Given the description of an element on the screen output the (x, y) to click on. 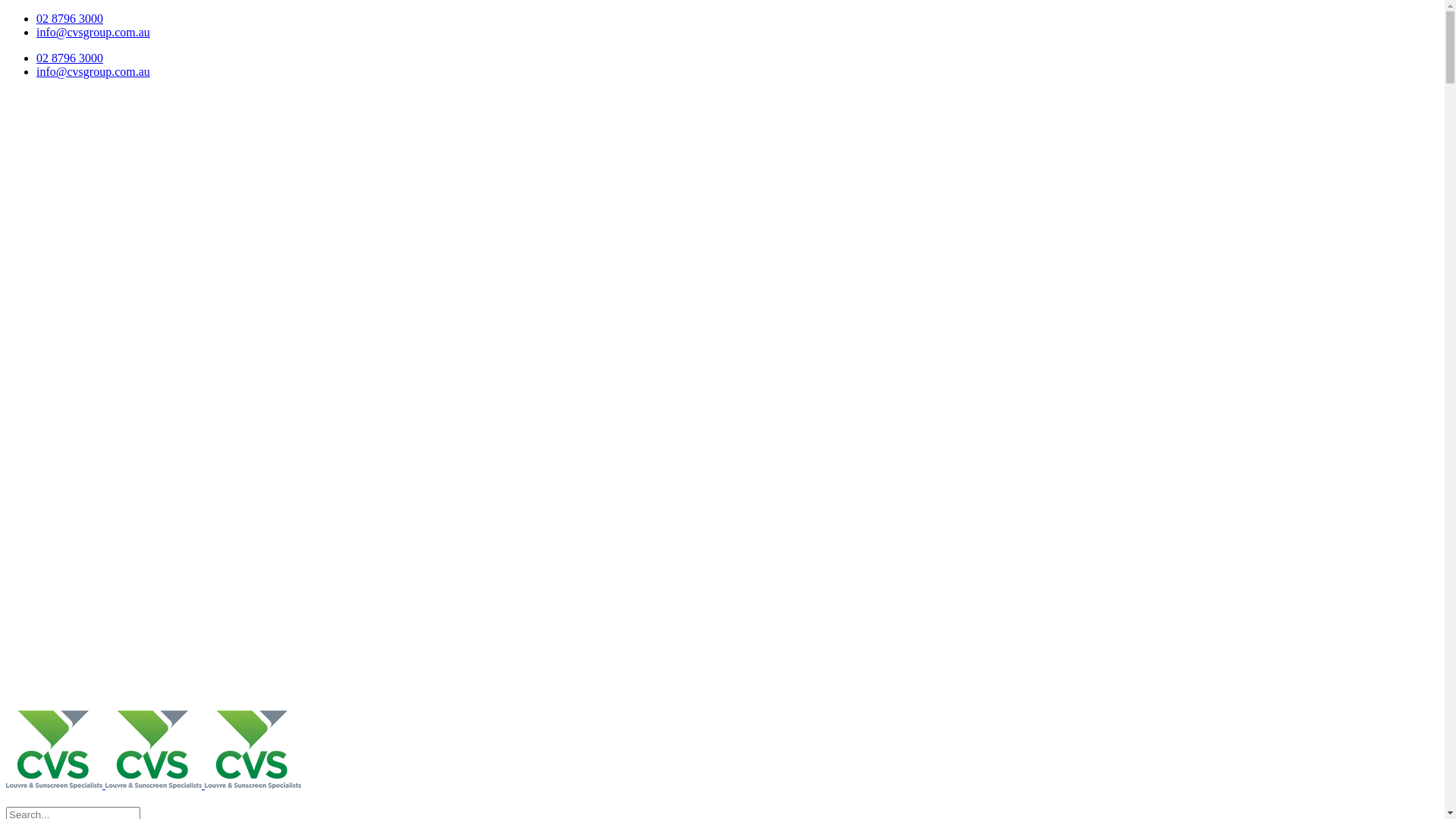
02 8796 3000 Element type: text (69, 18)
info@cvsgroup.com.au Element type: text (93, 31)
Skip to content Element type: text (5, 11)
02 8796 3000 Element type: text (69, 57)
info@cvsgroup.com.au Element type: text (93, 71)
